Given the description of an element on the screen output the (x, y) to click on. 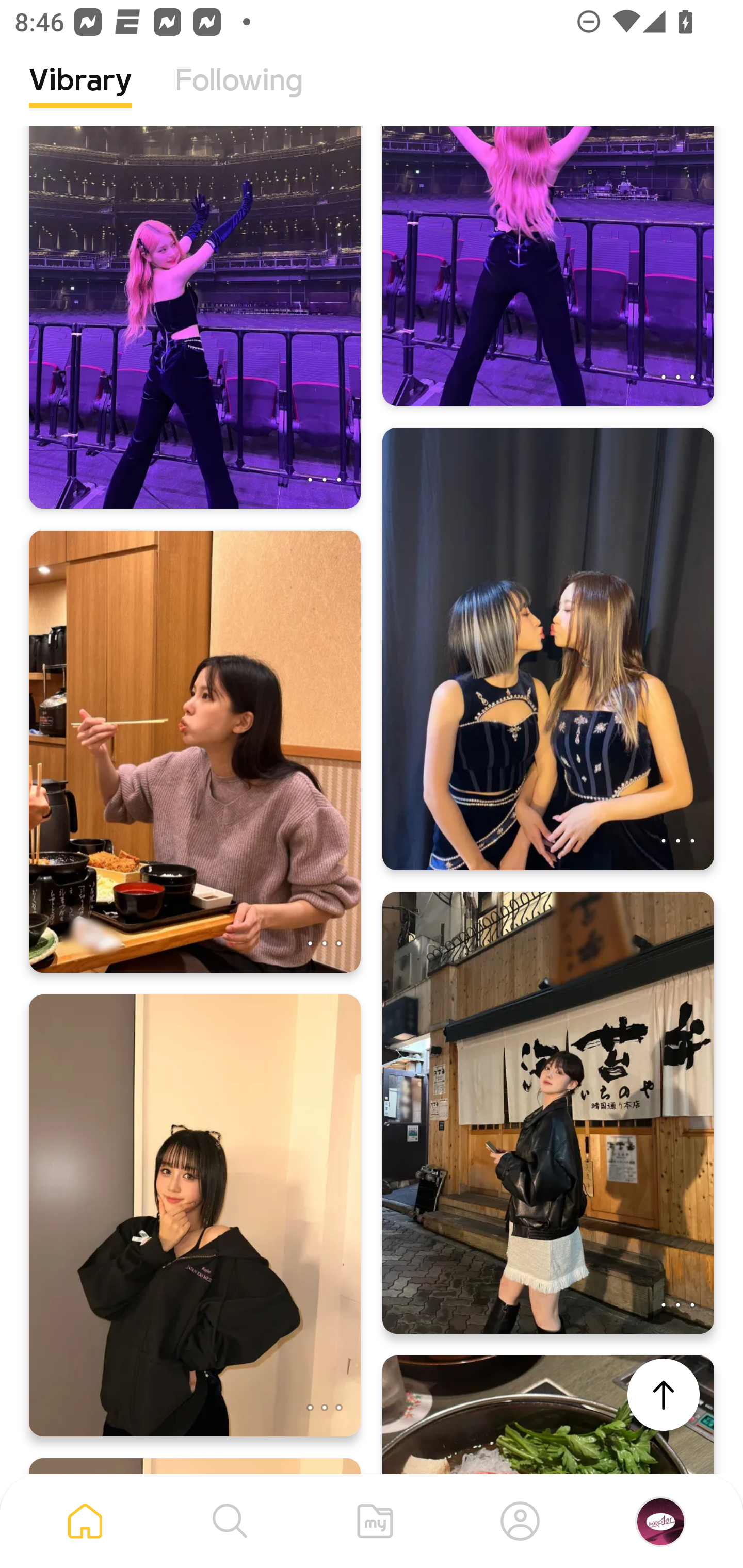
Vibrary (80, 95)
Following (239, 95)
